Given the description of an element on the screen output the (x, y) to click on. 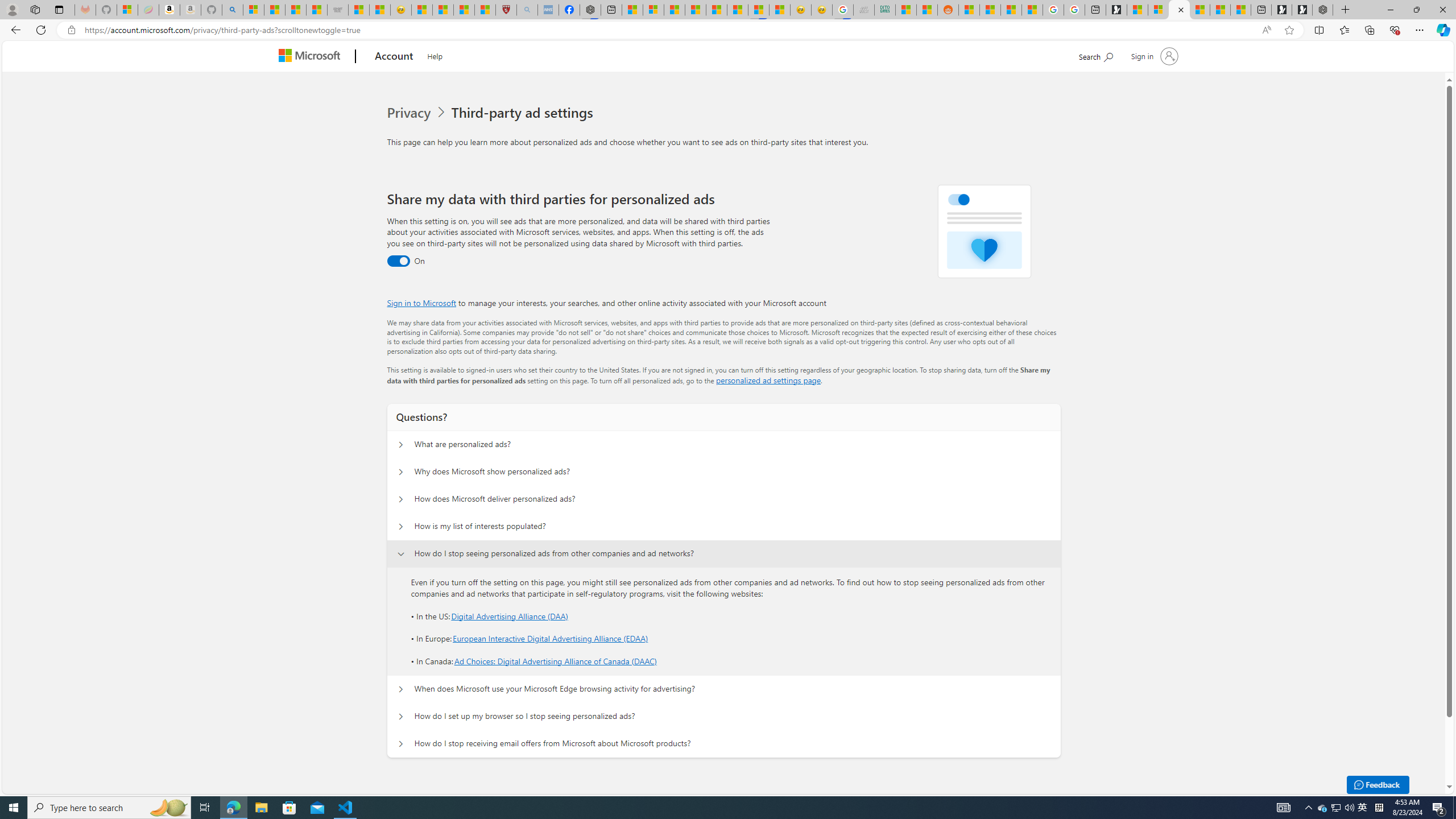
Sign in to Microsoft (422, 302)
Robert H. Shmerling, MD - Harvard Health (505, 9)
Help (434, 54)
Questions? Why does Microsoft show personalized ads? (401, 472)
